Given the description of an element on the screen output the (x, y) to click on. 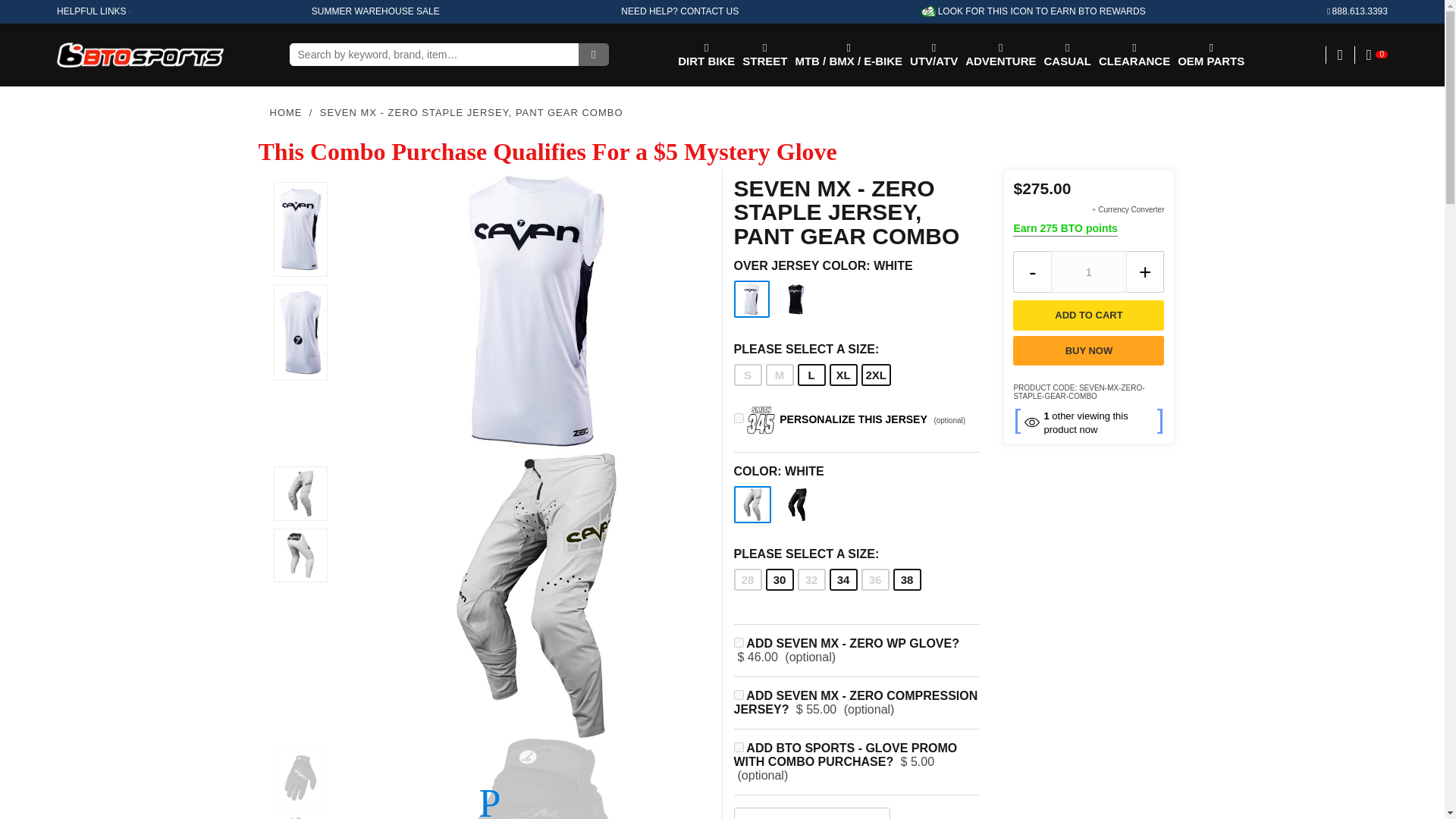
on (738, 642)
on (738, 747)
over jersey color (856, 265)
on (738, 695)
1 other viewing this product now (1088, 421)
Yes (738, 418)
BTO Sports (140, 54)
Add Seven MX - Zero WP Glove (489, 801)
1 (1088, 271)
